Given the description of an element on the screen output the (x, y) to click on. 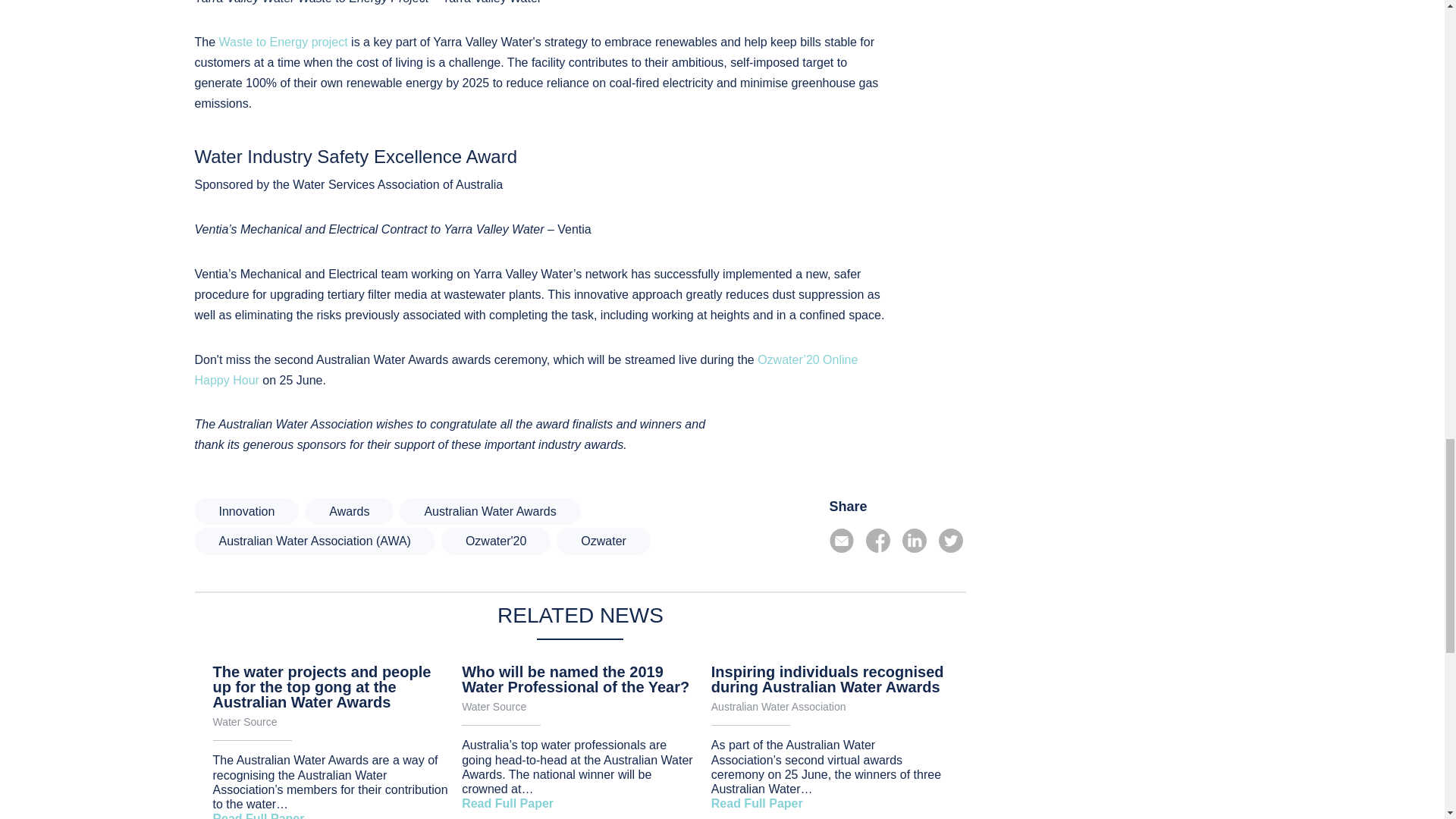
LinkedIn icon (914, 540)
email icon (841, 540)
facebook icon (877, 540)
Twitter icon (950, 540)
